Given the description of an element on the screen output the (x, y) to click on. 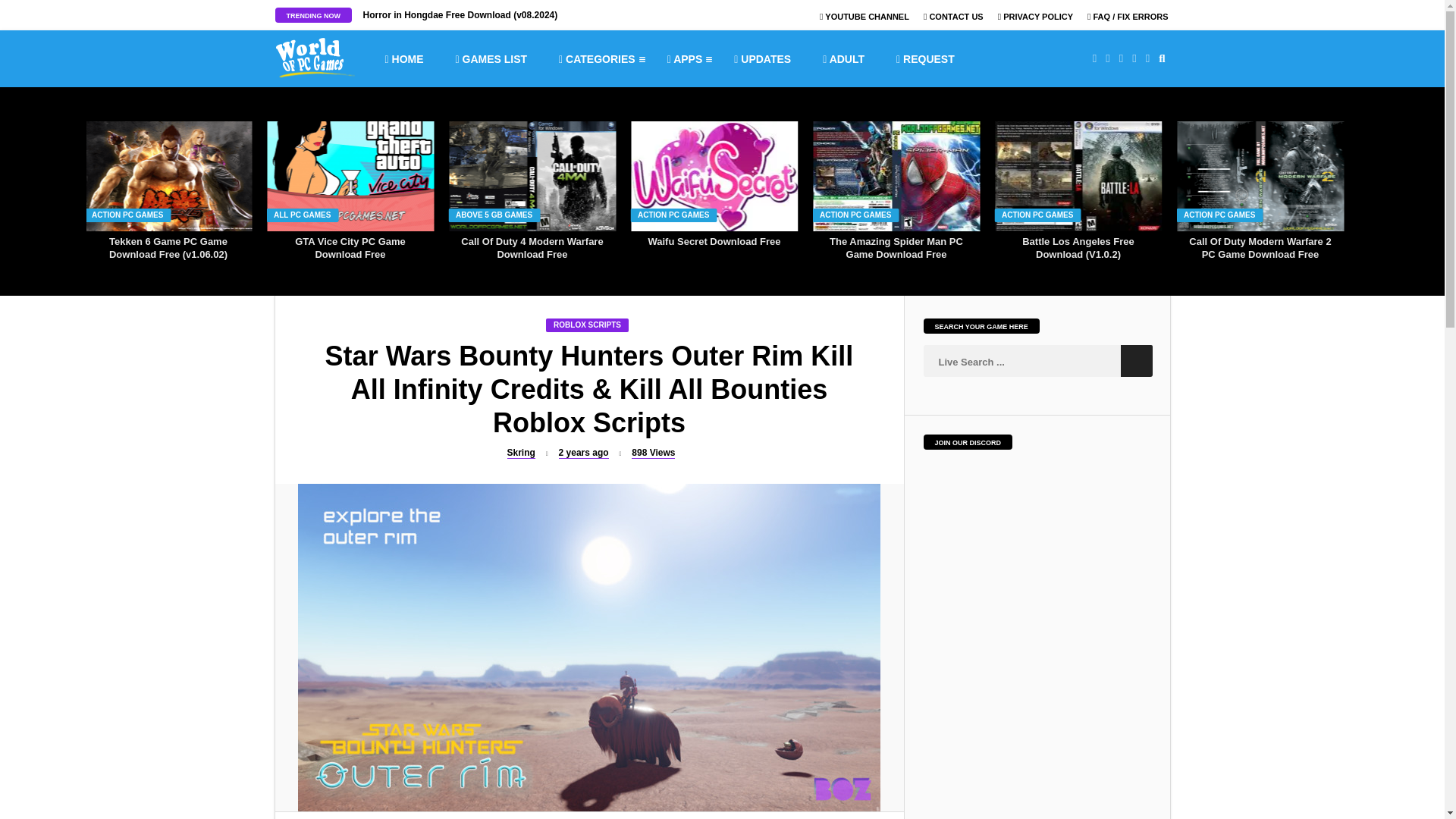
View all posts in Action PC Games (1220, 214)
CATEGORIES (596, 58)
PRIVACY POLICY (1035, 16)
View all posts in Action PC Games (674, 214)
HOME (402, 58)
View all posts in All PC Games (303, 214)
YOUTUBE CHANNEL (863, 16)
GAMES LIST (491, 58)
View all posts in Action PC Games (1038, 214)
Search (1137, 360)
